Given the description of an element on the screen output the (x, y) to click on. 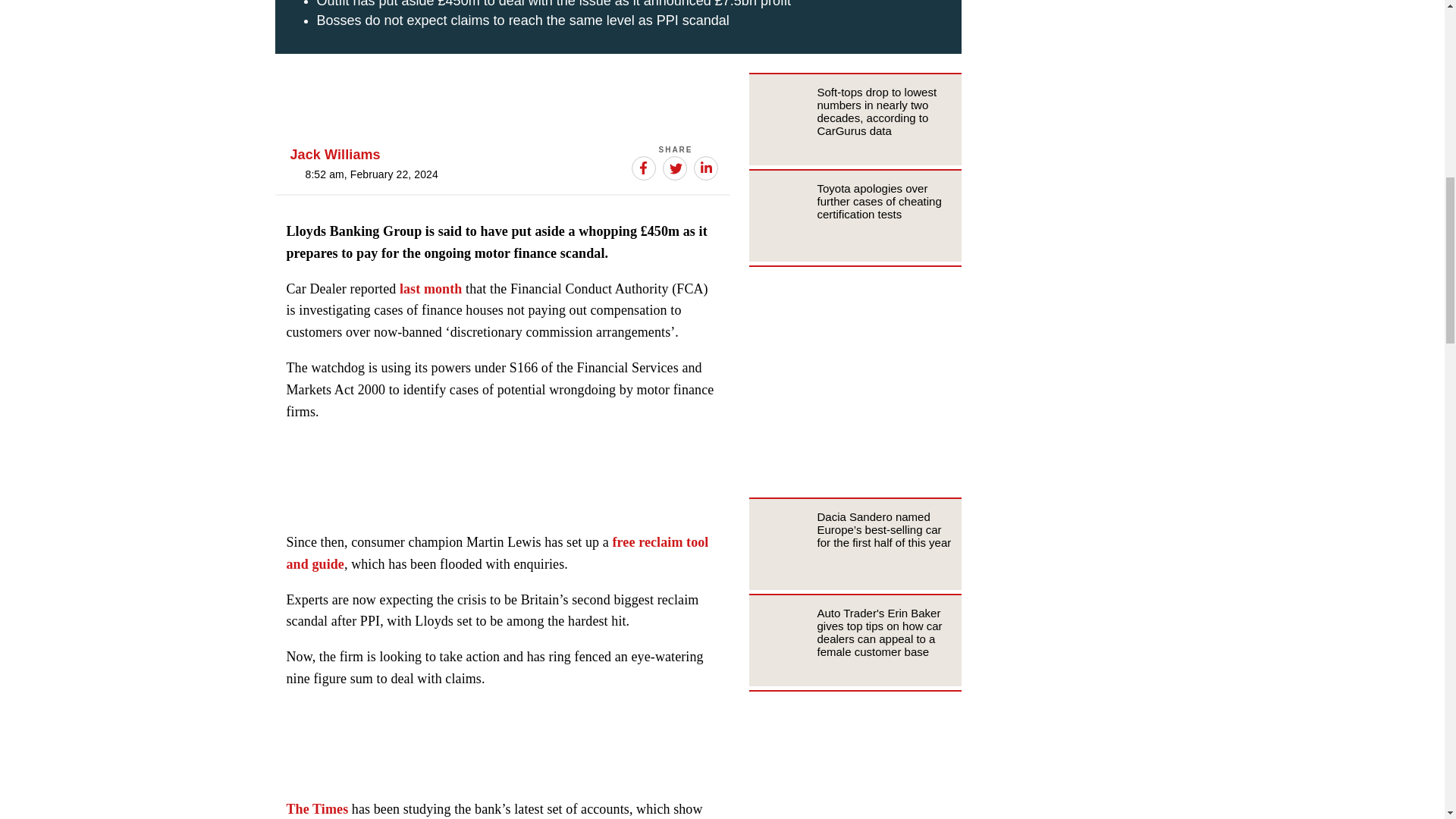
Posts by Jack Williams (334, 154)
Jack Williams (334, 154)
free reclaim tool and guide (497, 552)
The Times (317, 808)
last month (430, 288)
